Given the description of an element on the screen output the (x, y) to click on. 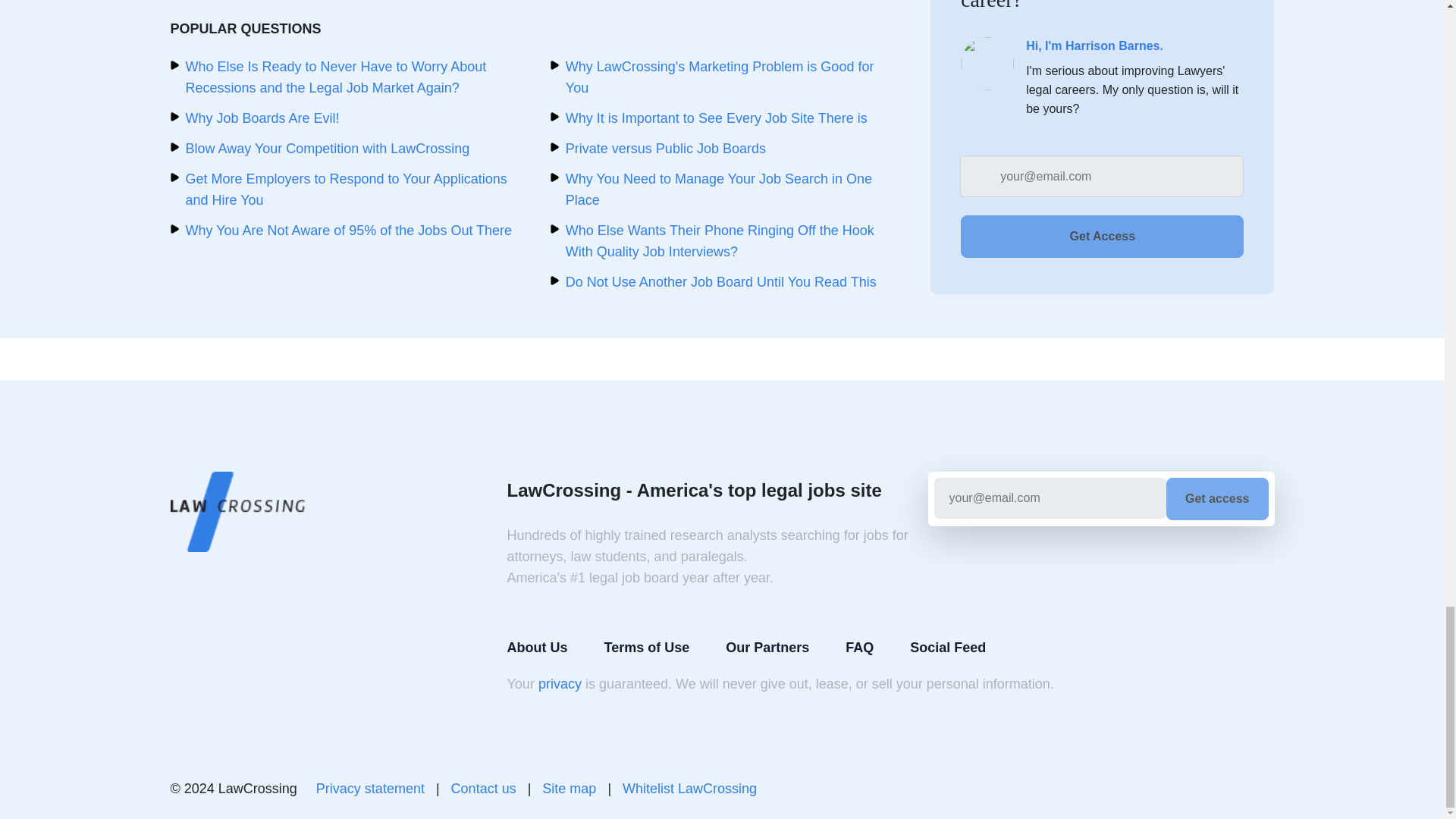
LawCrossing Twitter (1261, 788)
LawCrossing Linkedin (1224, 788)
LawCrossing Facebook (1188, 788)
